Given the description of an element on the screen output the (x, y) to click on. 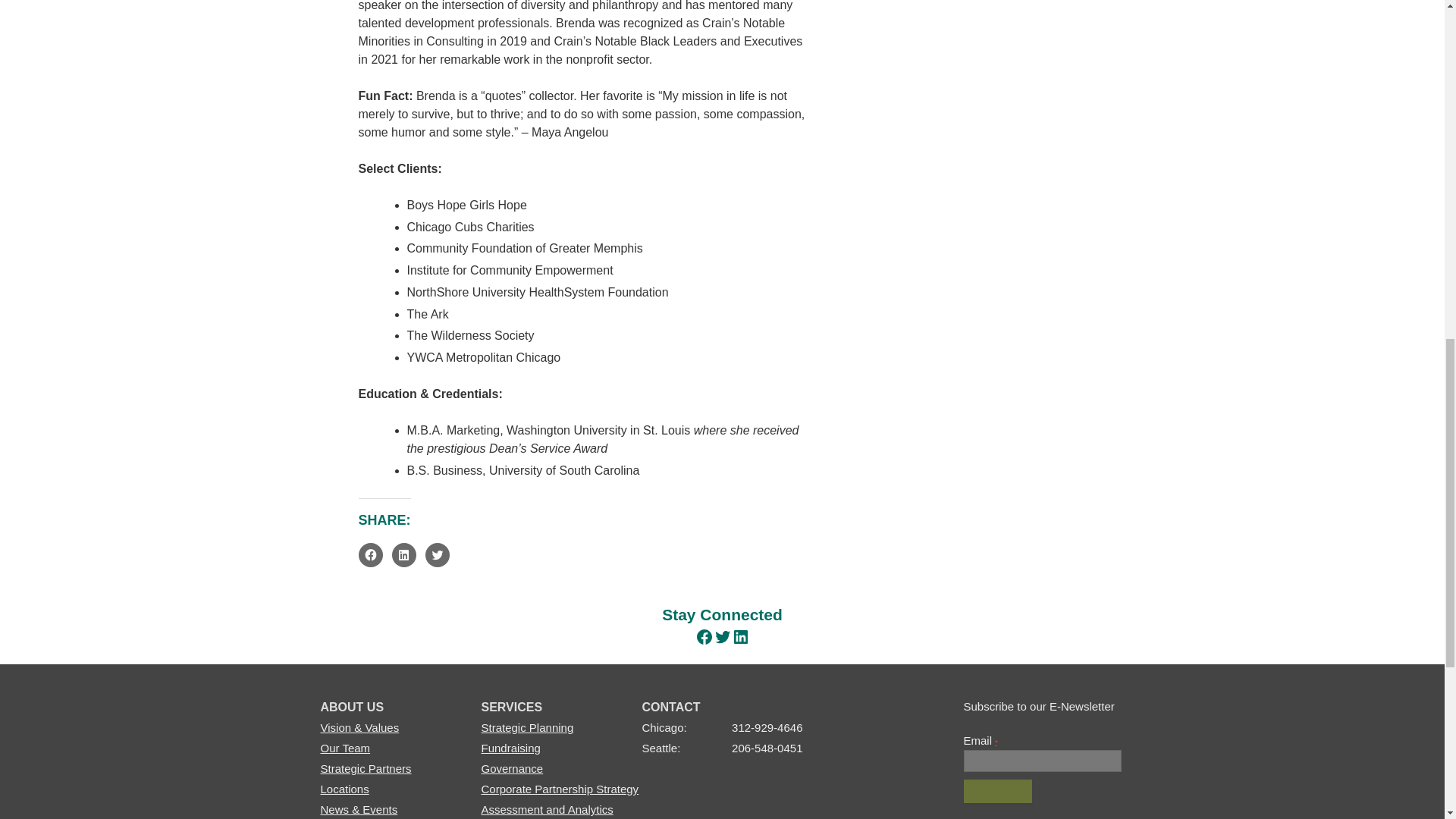
Locations (344, 788)
Strategic Partners (365, 768)
Click to share on LinkedIn (402, 554)
Facebook (703, 637)
LinkedIn (739, 637)
Click to share on Twitter (436, 554)
Twitter (721, 637)
Our Team (344, 748)
Sign up (997, 791)
Click to share on Facebook (369, 554)
